Given the description of an element on the screen output the (x, y) to click on. 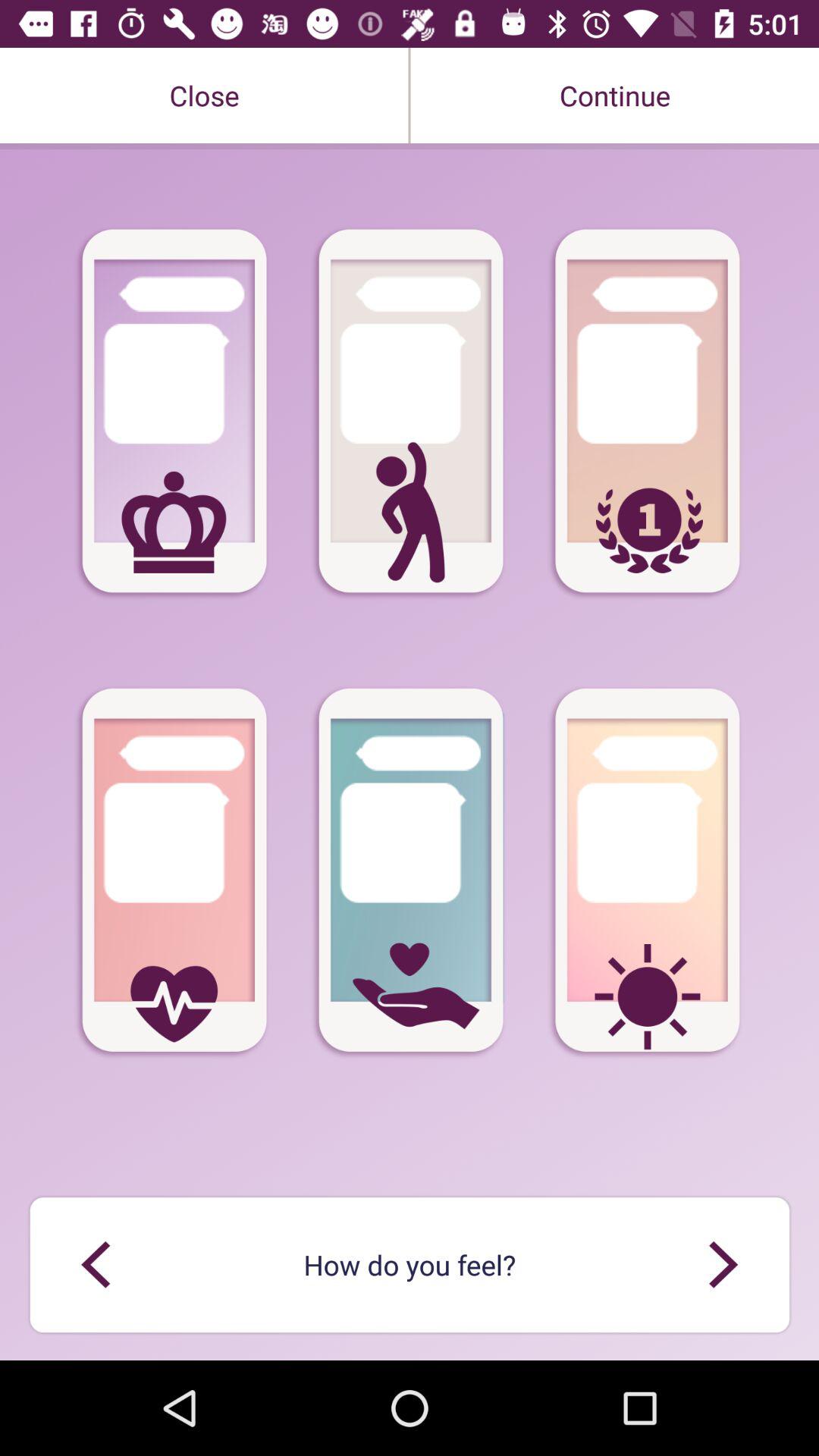
next button (723, 1264)
